Given the description of an element on the screen output the (x, y) to click on. 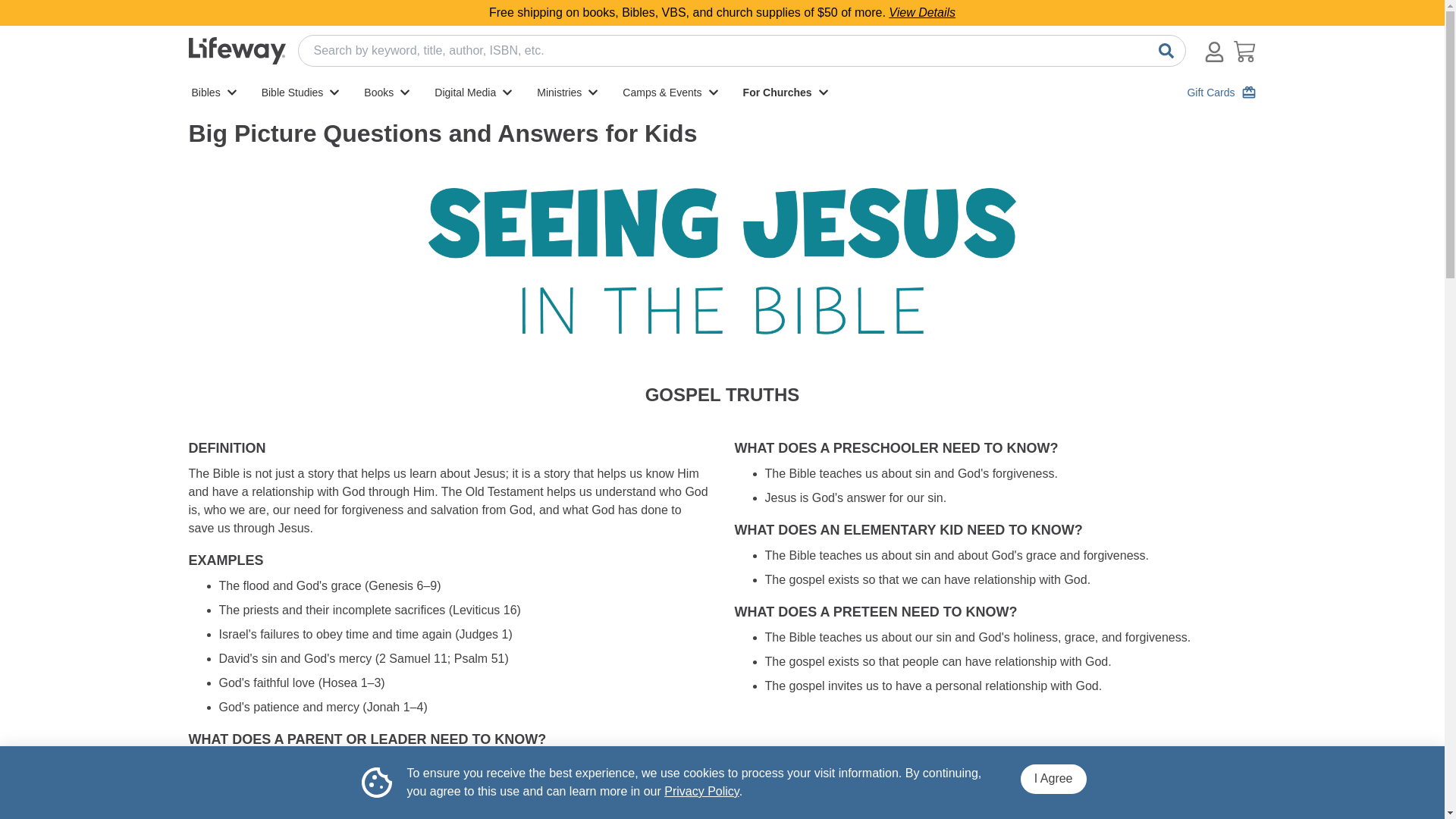
Privacy Policy (700, 790)
I Agree (1053, 778)
Bibles (216, 92)
Books (390, 92)
Digital Media (476, 92)
Ministries (570, 92)
Bible Studies (304, 92)
Gift Cards (1219, 92)
For Churches (788, 92)
